Given the description of an element on the screen output the (x, y) to click on. 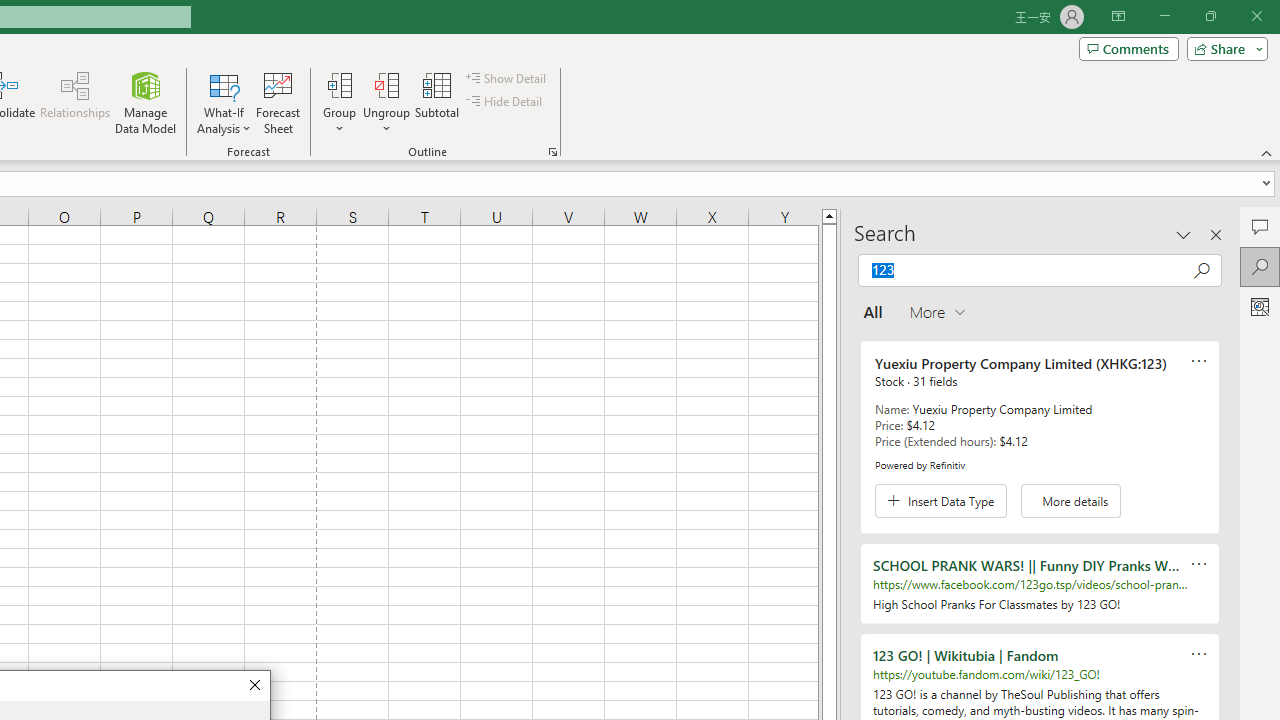
Hide Detail (505, 101)
Relationships (75, 102)
Subtotal (437, 102)
Restore Down (1210, 16)
Search (1260, 266)
What-If Analysis (223, 102)
Group and Outline Settings (552, 151)
